Given the description of an element on the screen output the (x, y) to click on. 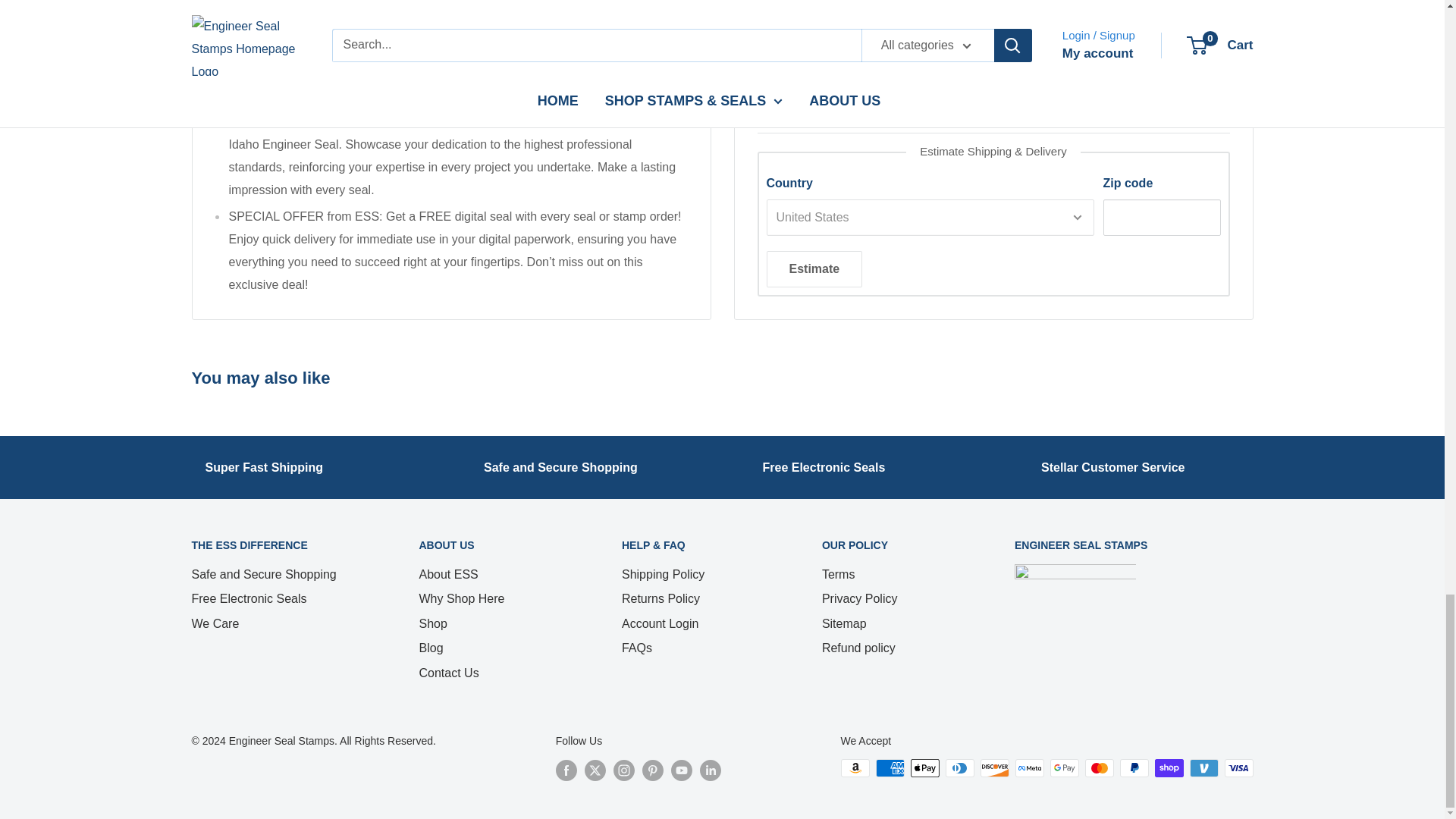
Safe and Secure Shopping (560, 467)
Contact Us (1113, 467)
Free Electronic Seals (823, 467)
Super-Fast Shipping (264, 467)
